Given the description of an element on the screen output the (x, y) to click on. 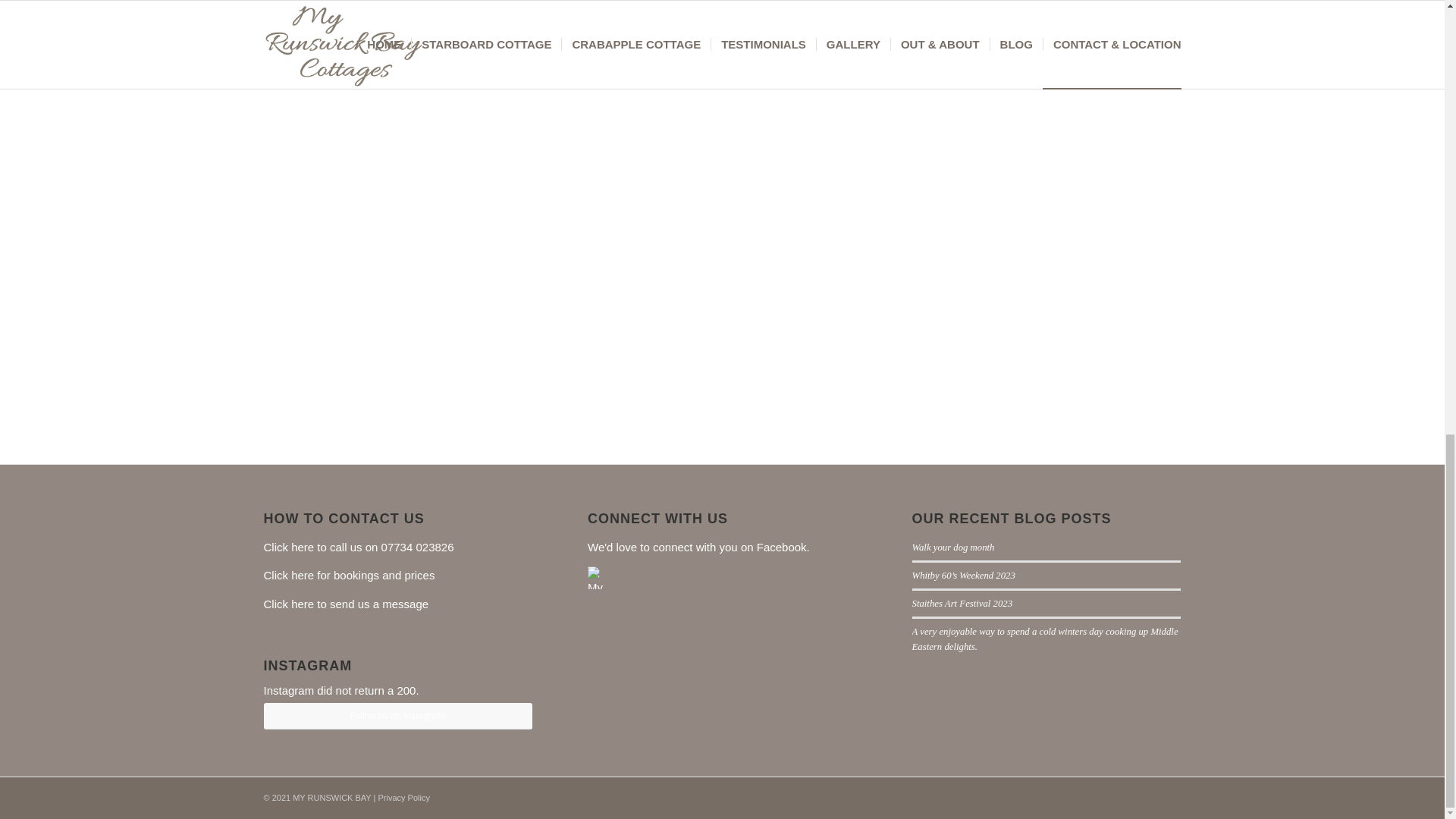
Walk your dog month (953, 547)
Click here for bookings and prices (349, 574)
My Runswick Bay on Facebook (599, 662)
Follow us on Instagram! (397, 715)
Staithes Art Festival 2023 (962, 603)
Privacy Policy (403, 797)
Click here to call us on 07734 023826 (358, 546)
Click here for bookings and prices (349, 574)
Send us a message (346, 603)
